Given the description of an element on the screen output the (x, y) to click on. 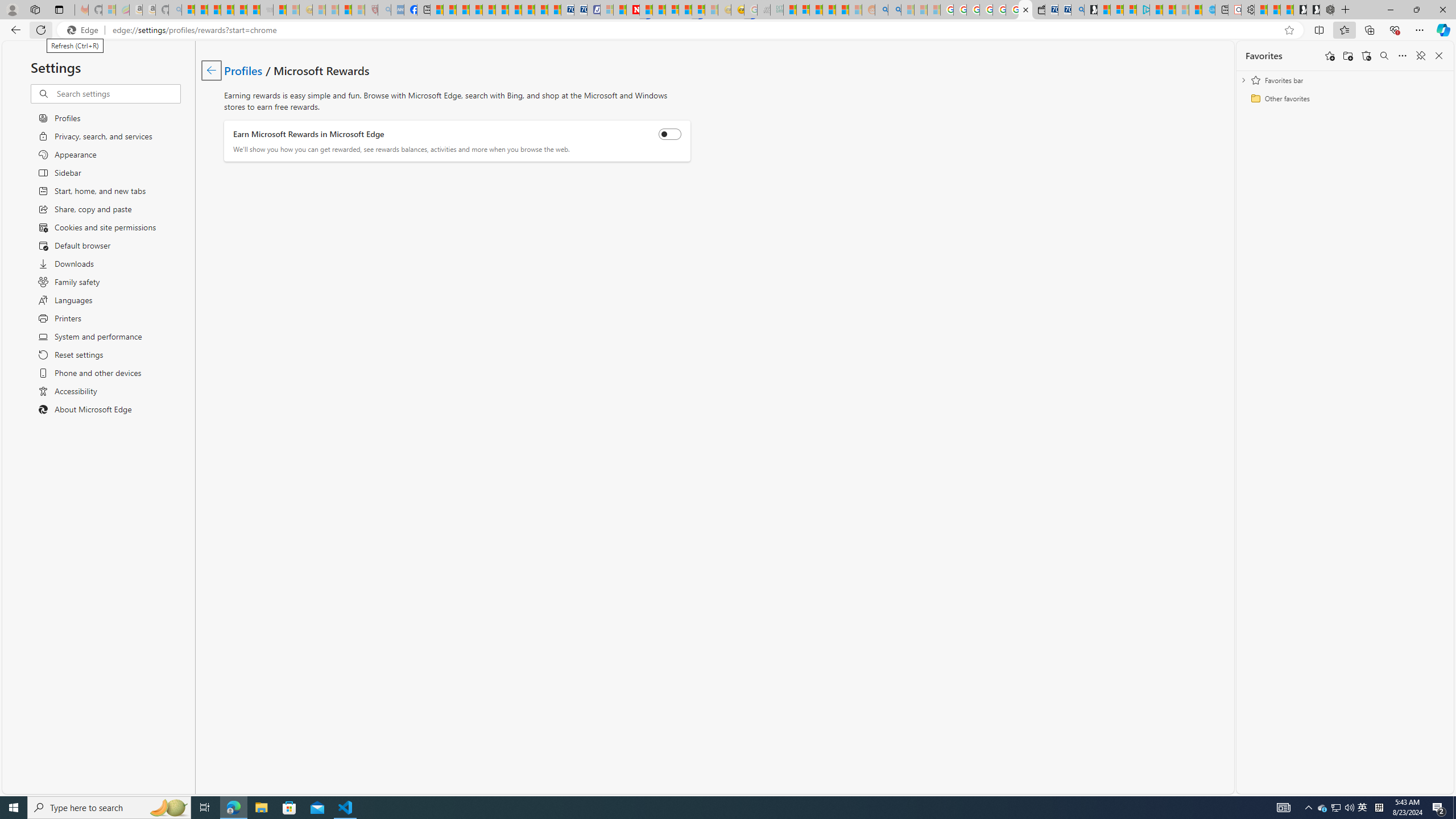
Climate Damage Becomes Too Severe To Reverse (475, 9)
Latest Politics News & Archive | Newsweek.com (633, 9)
Profiles (243, 69)
Search favorites (1383, 55)
